Given the description of an element on the screen output the (x, y) to click on. 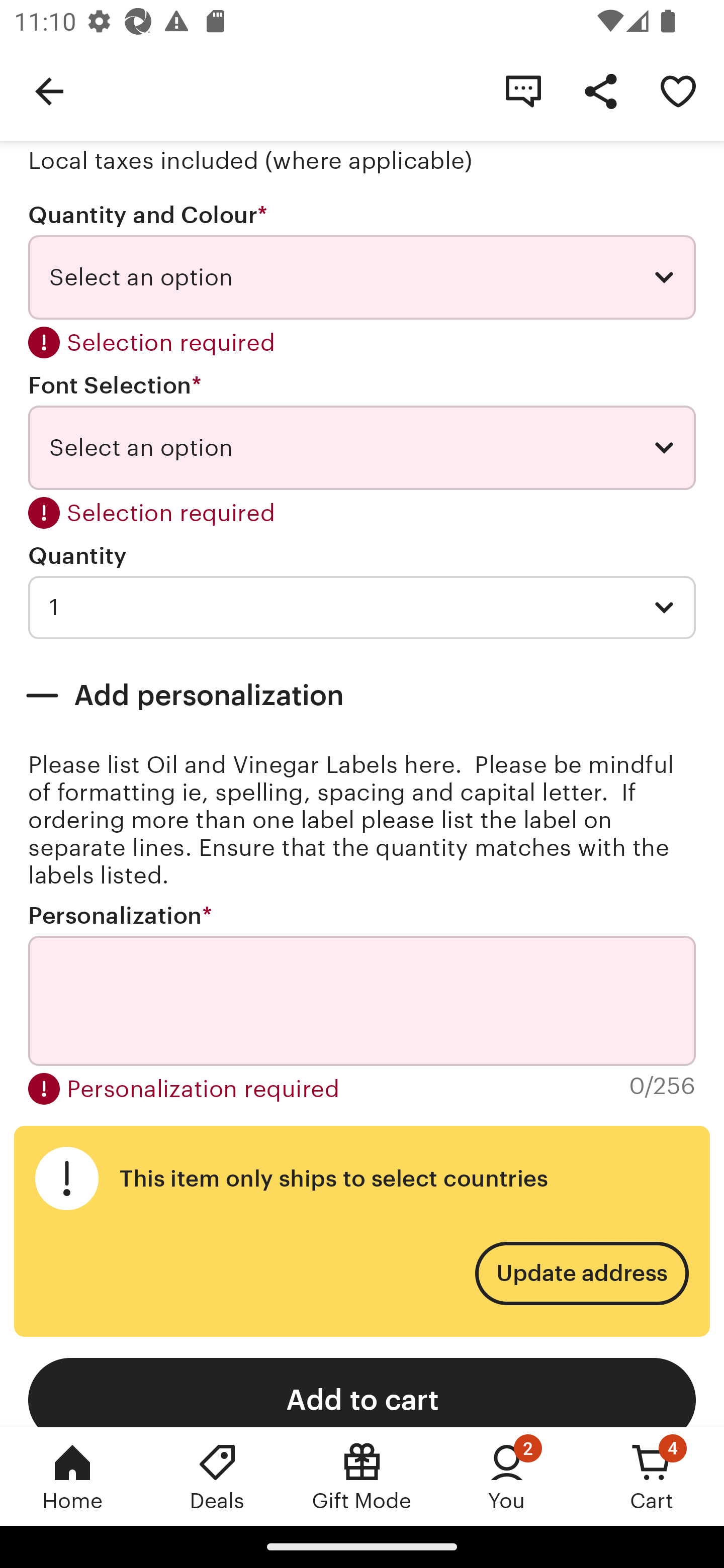
Navigate up (49, 90)
Contact shop (523, 90)
Share (600, 90)
Select an option (361, 277)
Select an option (361, 447)
Quantity (77, 555)
1 (361, 607)
Add personalization Add personalization Required (362, 695)
Update address (581, 1272)
Add to cart (361, 1391)
Deals (216, 1475)
Gift Mode (361, 1475)
You, 2 new notifications You (506, 1475)
Cart, 4 new notifications Cart (651, 1475)
